Given the description of an element on the screen output the (x, y) to click on. 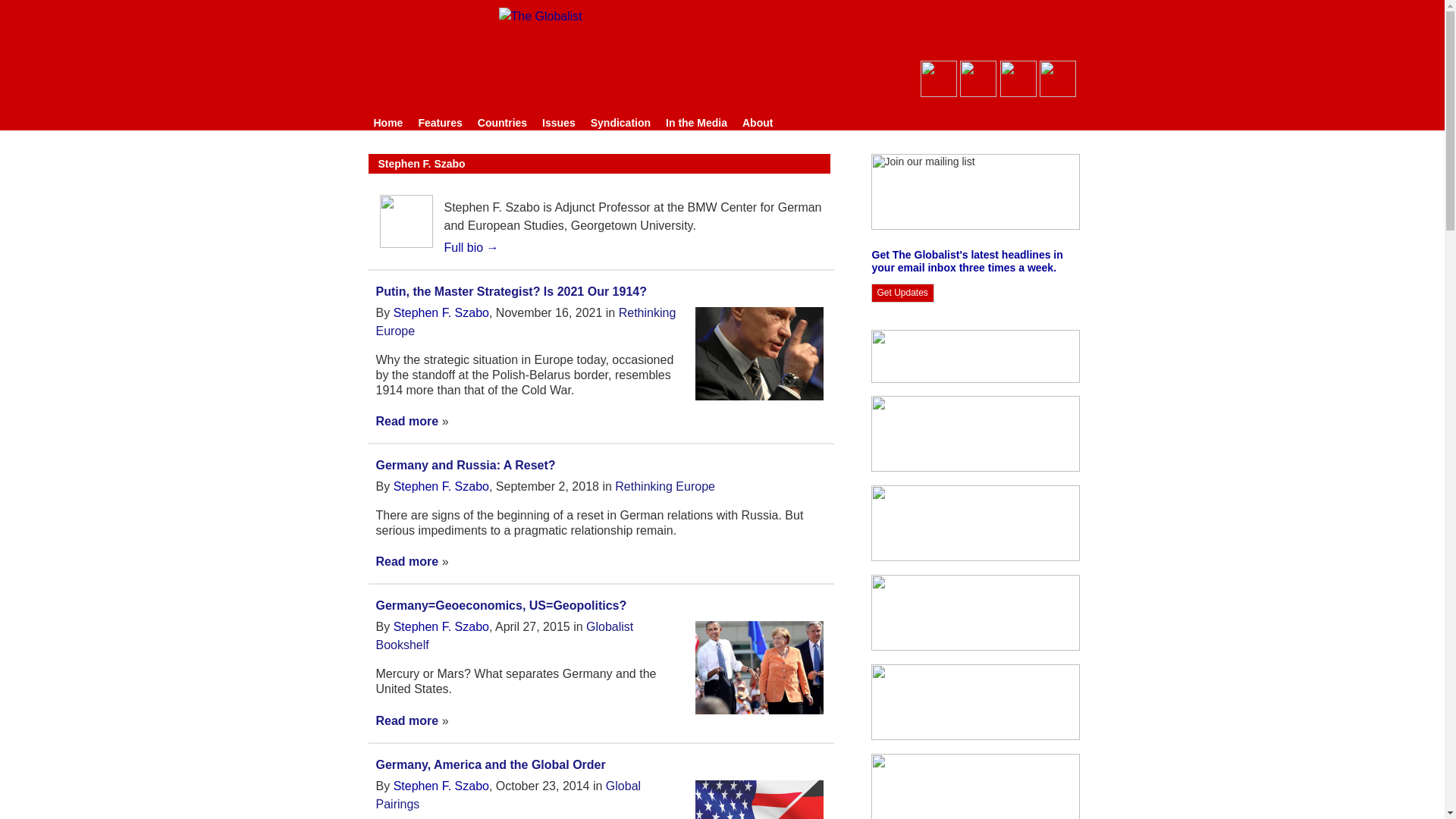
Global Pairings (508, 794)
Stephen F. Szabo (441, 312)
Germany, America and the Global Order (490, 764)
Read more (407, 420)
Stephen F. Szabo (441, 486)
Features (439, 122)
Rethinking Europe (664, 486)
Posts by Stephen F. Szabo (441, 626)
About (757, 122)
Stephen F. Szabo (441, 785)
